Given the description of an element on the screen output the (x, y) to click on. 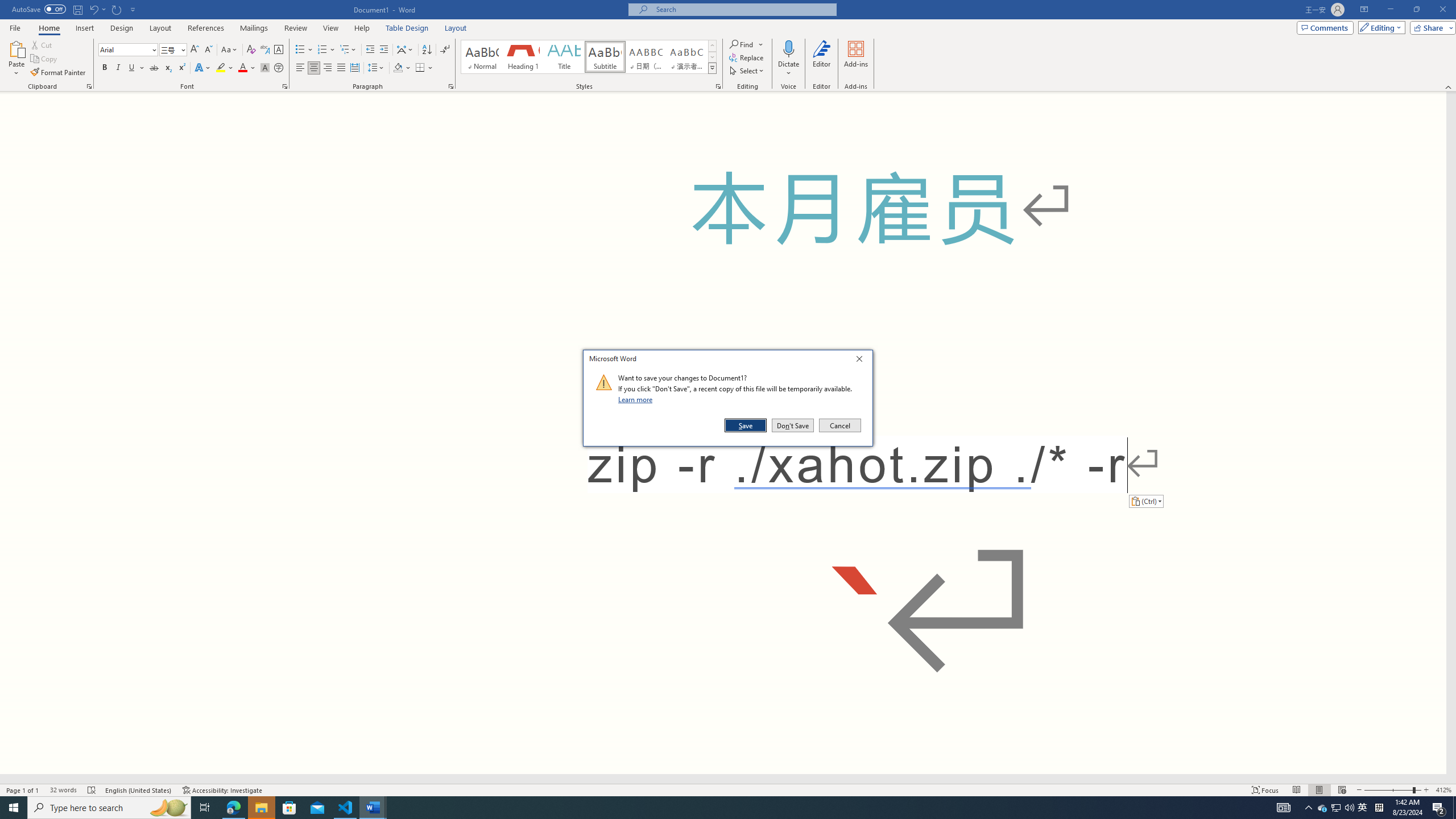
Review (295, 28)
Search highlights icon opens search home window (167, 807)
Enclose Characters... (278, 67)
Language English (United States) (138, 790)
Help (361, 28)
Row Down (711, 56)
Share (1430, 27)
Design (122, 28)
Phonetic Guide... (264, 49)
Class: MsoCommandBar (728, 45)
Character Border (278, 49)
Microsoft search (742, 9)
Type here to search (108, 807)
Find (746, 44)
